Given the description of an element on the screen output the (x, y) to click on. 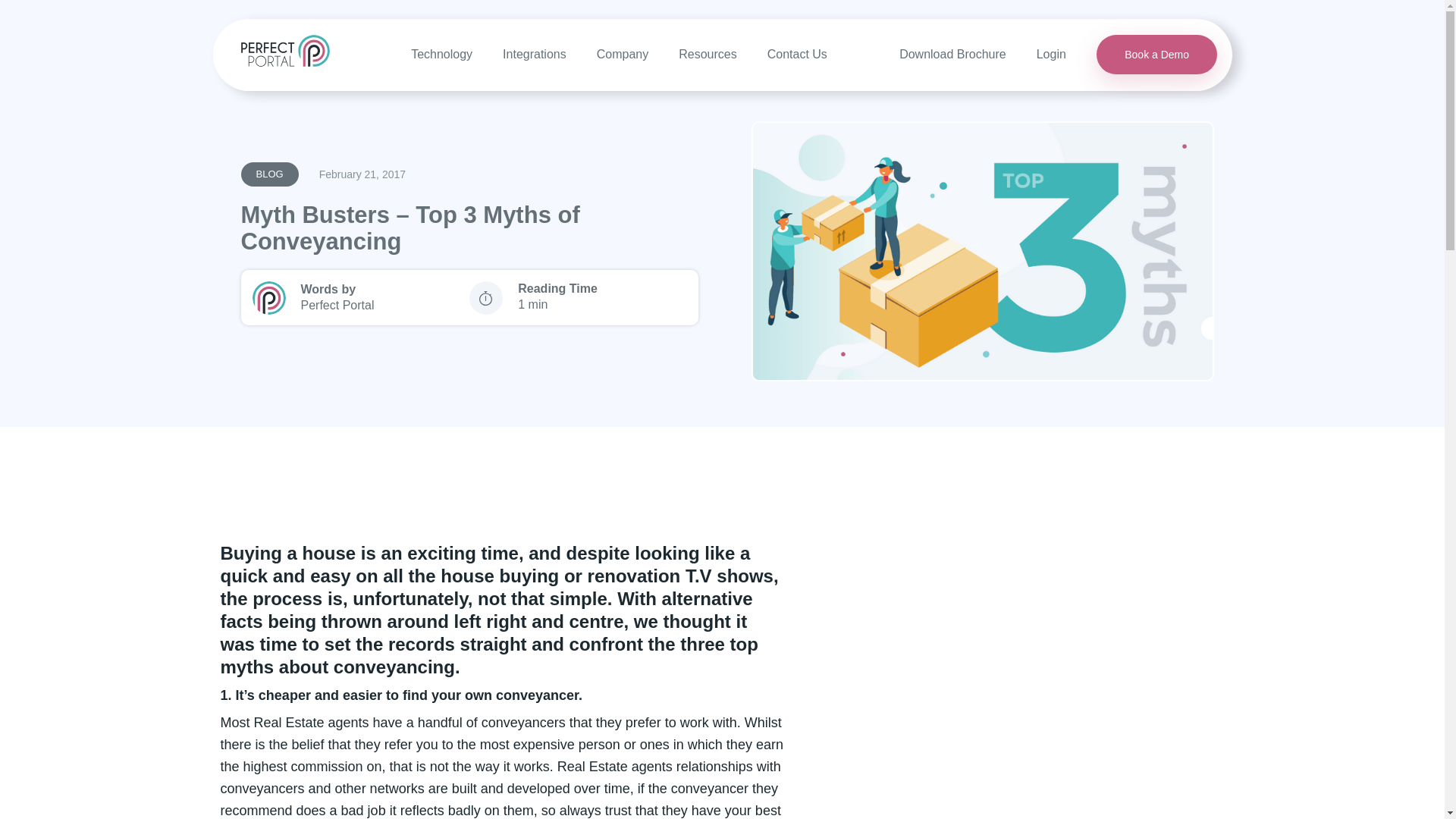
Company (621, 53)
Integrations (534, 53)
Download Brochure (952, 53)
Book a Demo (1156, 54)
Contact Us (797, 53)
Resources (707, 53)
Technology (440, 53)
Login (1050, 53)
